Given the description of an element on the screen output the (x, y) to click on. 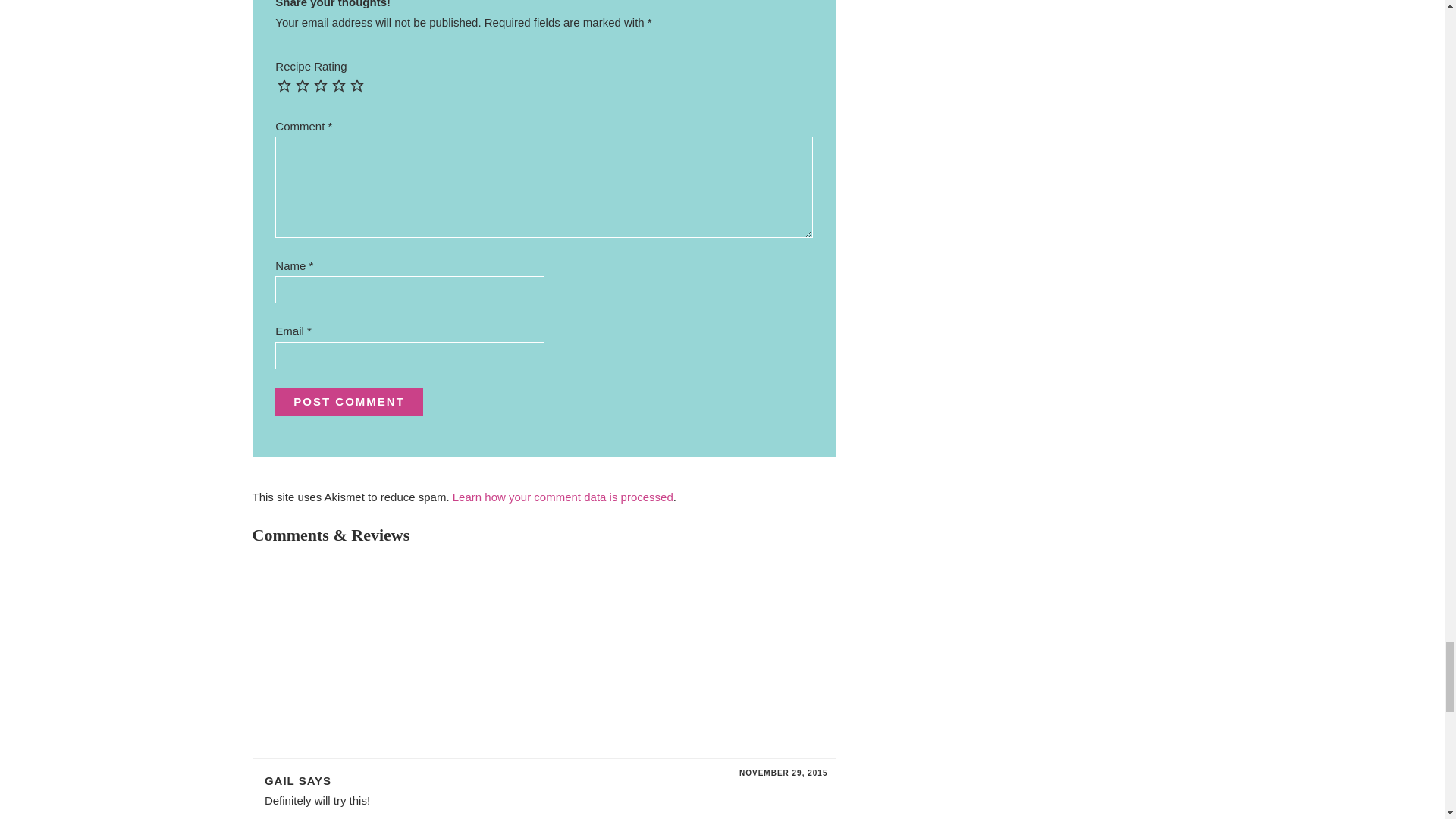
Post Comment (349, 401)
